Given the description of an element on the screen output the (x, y) to click on. 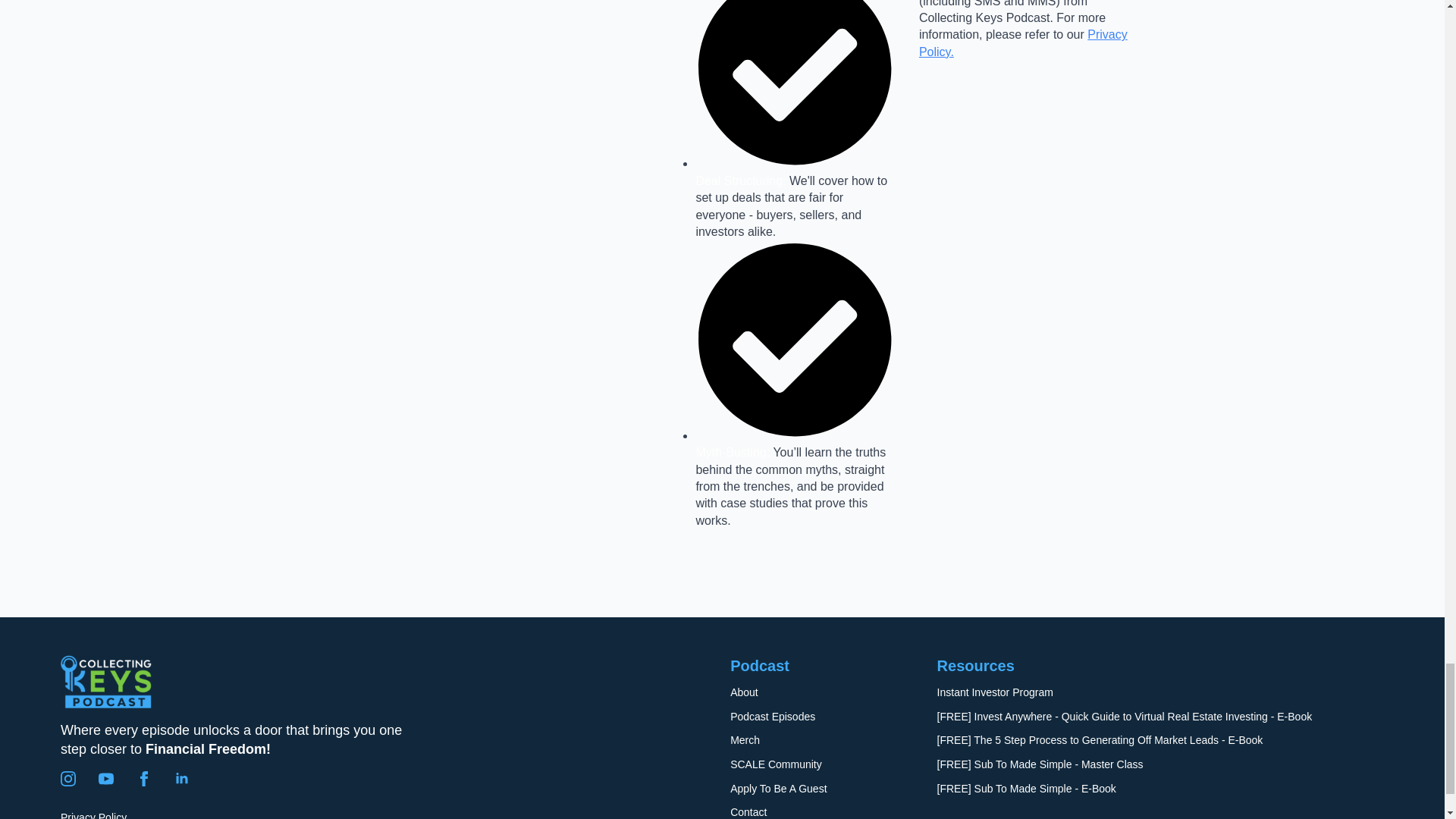
Merch (745, 740)
Privacy Policy (93, 814)
Privacy Policy. (1022, 42)
SCALE Community (776, 765)
Podcast Episodes (772, 717)
About (744, 693)
